Given the description of an element on the screen output the (x, y) to click on. 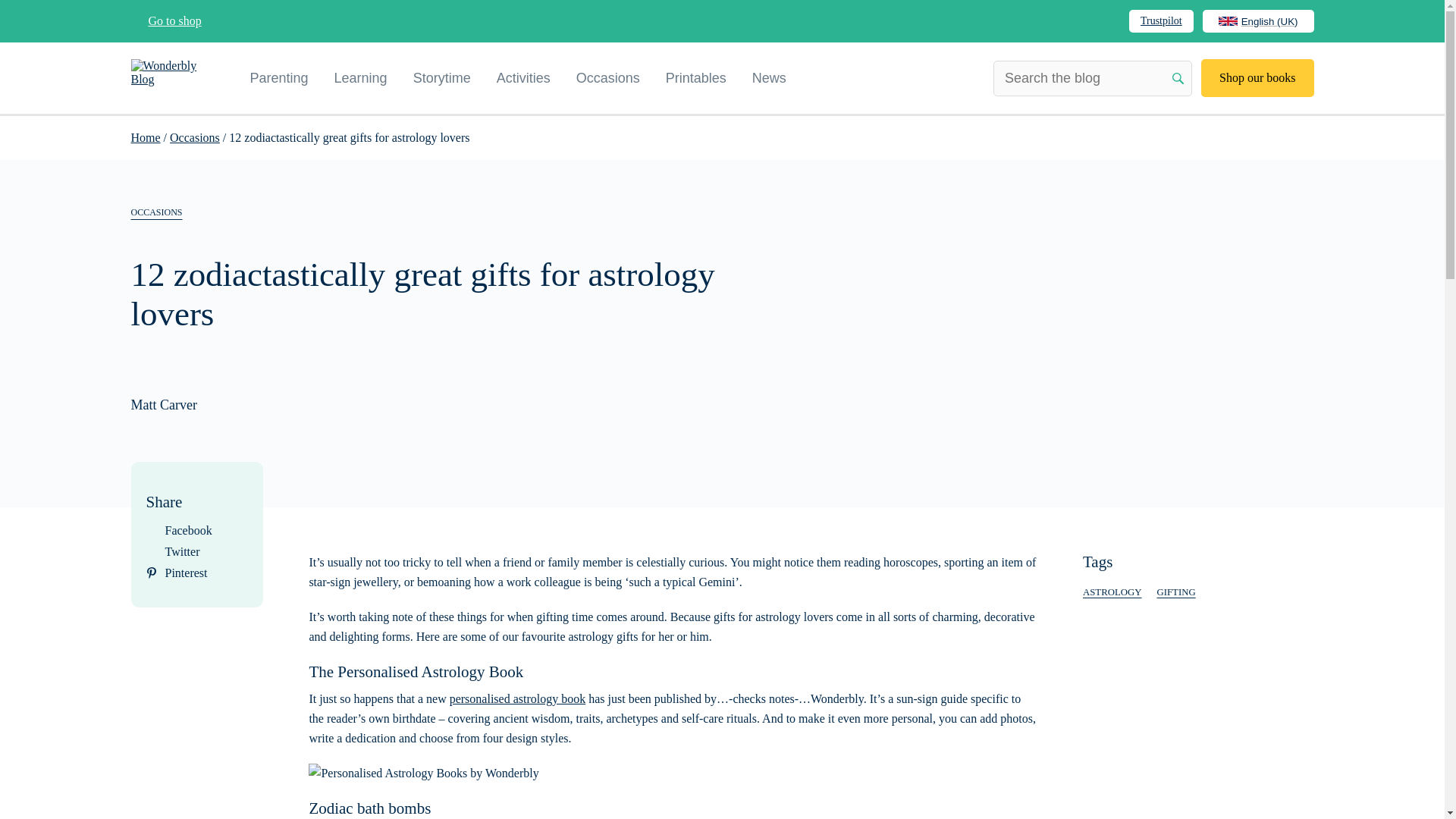
personalised astrology book (517, 698)
Trustpilot (1161, 20)
Occasions (608, 77)
Printables (695, 77)
News (769, 77)
Activities (523, 77)
Storytime (441, 77)
Learning (360, 77)
Go to shop (165, 20)
Shop our books (1257, 77)
